Given the description of an element on the screen output the (x, y) to click on. 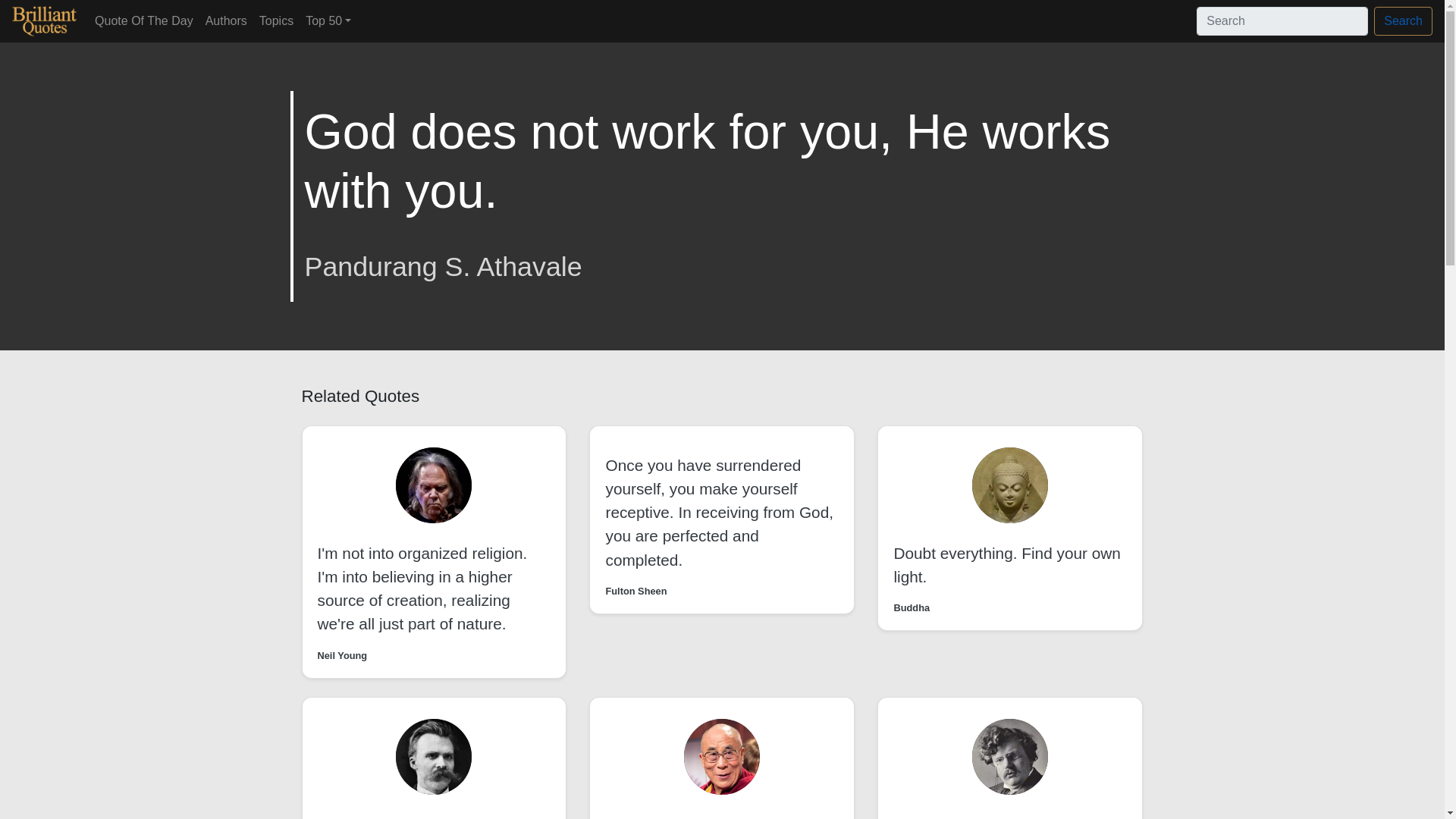
Doubt everything. Find your own light. (1006, 564)
Quote Of The Day (143, 20)
Topics (276, 20)
Search (1403, 21)
Authors (226, 20)
Neil Young (341, 655)
Top 50 (327, 20)
Buddha (911, 607)
Fulton Sheen (635, 590)
